Given the description of an element on the screen output the (x, y) to click on. 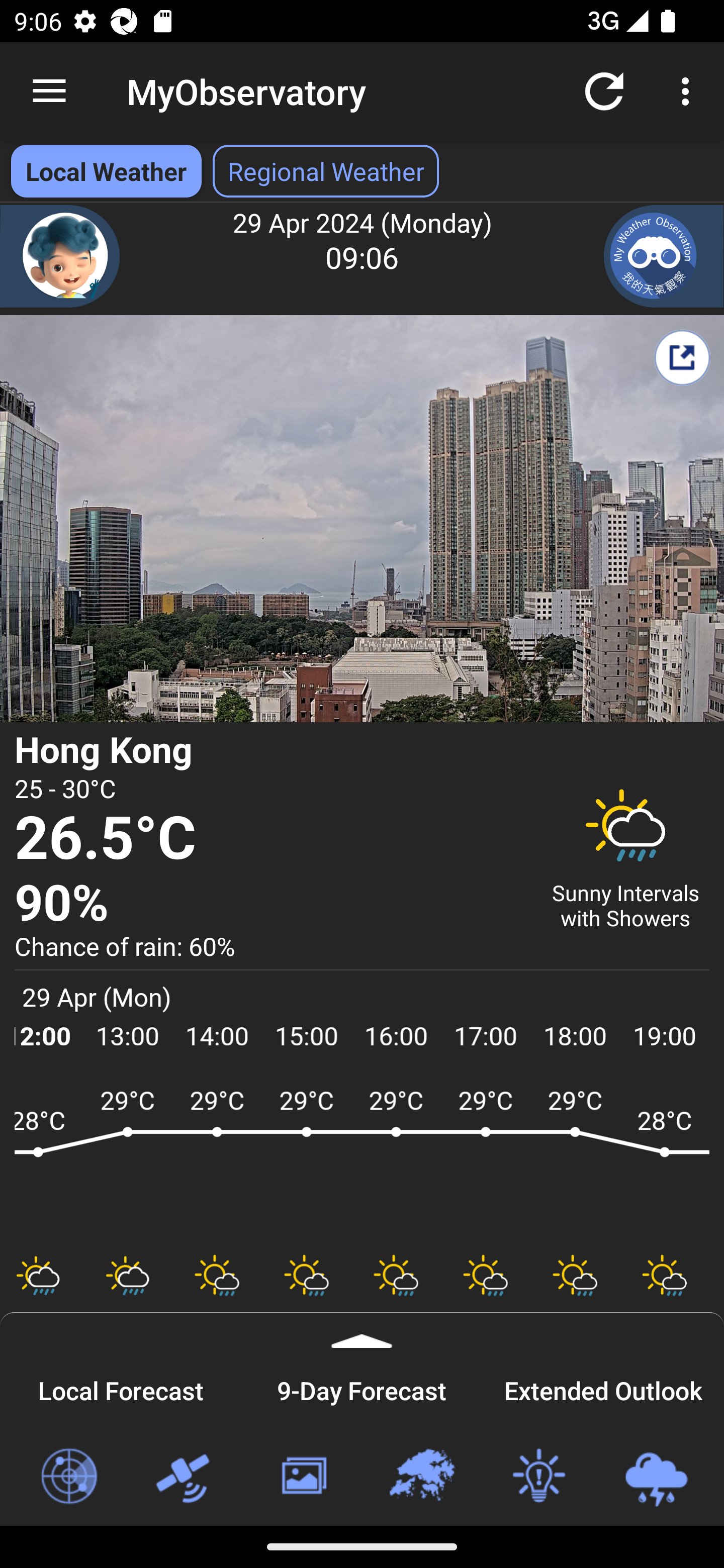
Navigate up (49, 91)
Refresh (604, 90)
More options (688, 90)
Local Weather Local Weather selected (105, 170)
Regional Weather Select Regional Weather (325, 170)
Chatbot (60, 256)
My Weather Observation (663, 256)
Share My Weather Report (681, 357)
26.5°C Temperature
26.5 degree Celsius (270, 839)
90% Relative Humidity
90 percent (270, 903)
ARWF (361, 1160)
Expand (362, 1330)
Local Forecast (120, 1387)
Extended Outlook (603, 1387)
Radar Images (68, 1476)
Satellite Images (185, 1476)
Weather Photos (302, 1476)
Regional Weather (420, 1476)
Weather Tips (537, 1476)
Loc-based Rain & Lightning Forecast (655, 1476)
